Given the description of an element on the screen output the (x, y) to click on. 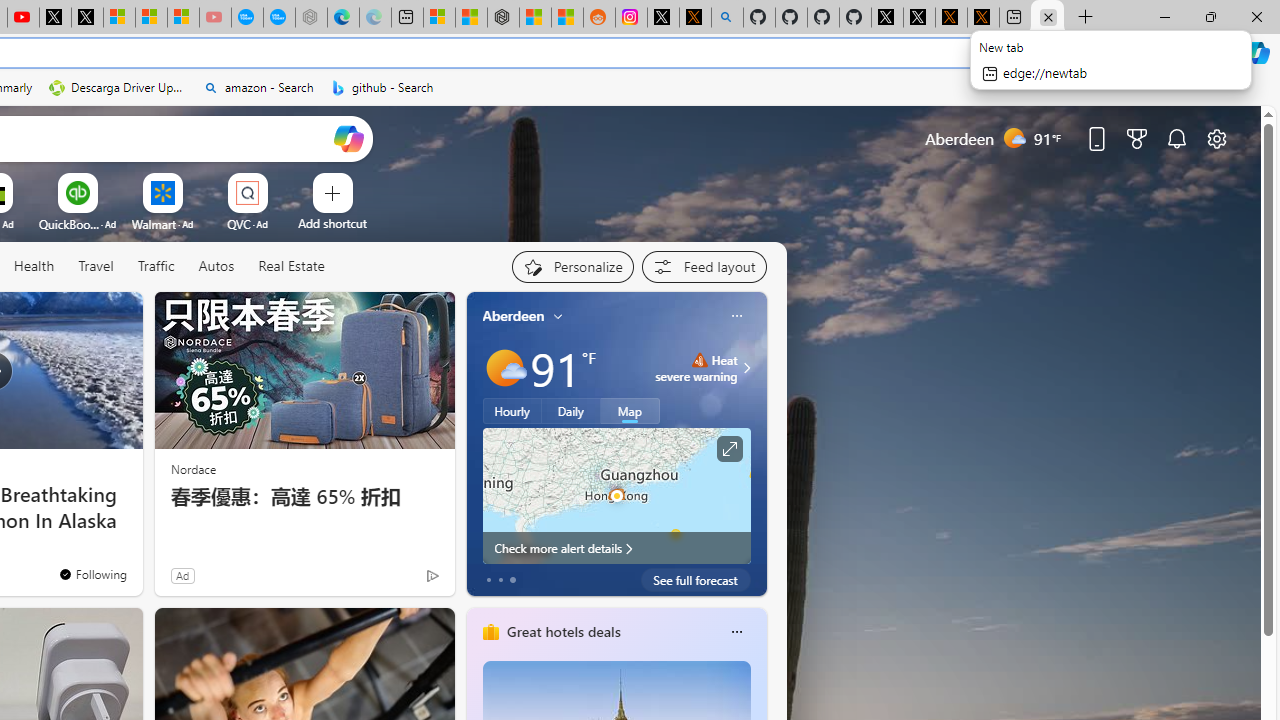
Descarga Driver Updater (118, 88)
X Privacy Policy (983, 17)
github - Search (727, 17)
Shanghai, China Weather trends | Microsoft Weather (566, 17)
See full forecast (695, 579)
